Given the description of an element on the screen output the (x, y) to click on. 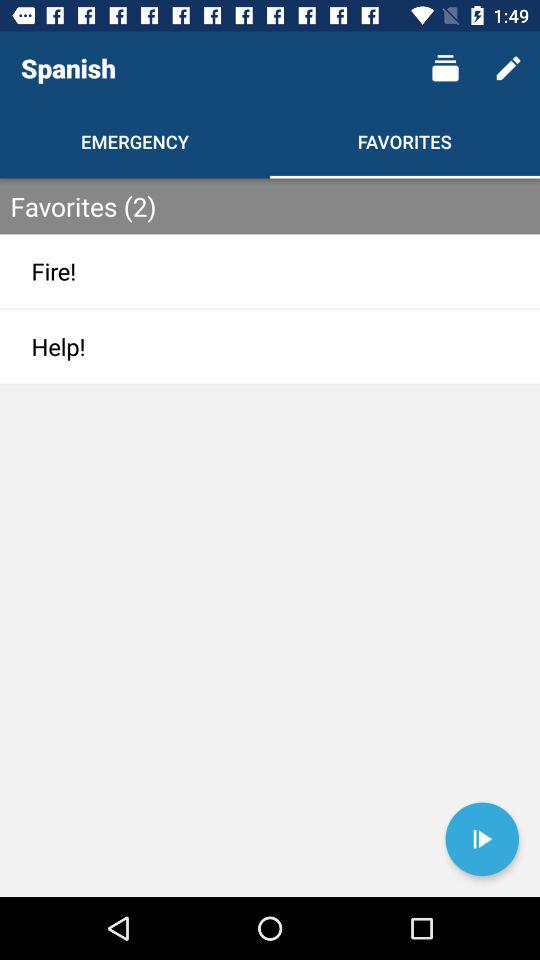
launch icon above favorites (2) (508, 67)
